Given the description of an element on the screen output the (x, y) to click on. 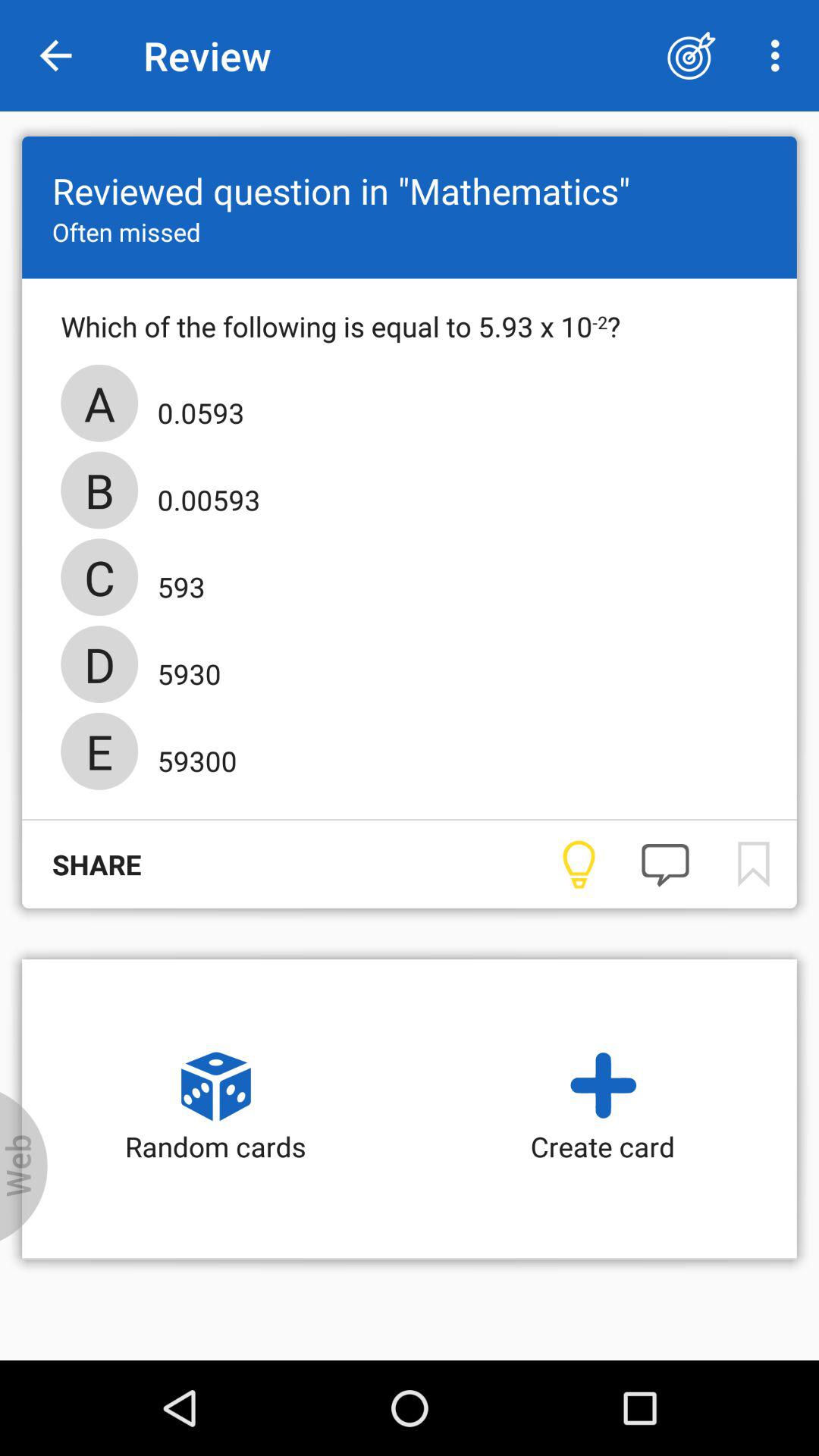
write post (665, 864)
